Given the description of an element on the screen output the (x, y) to click on. 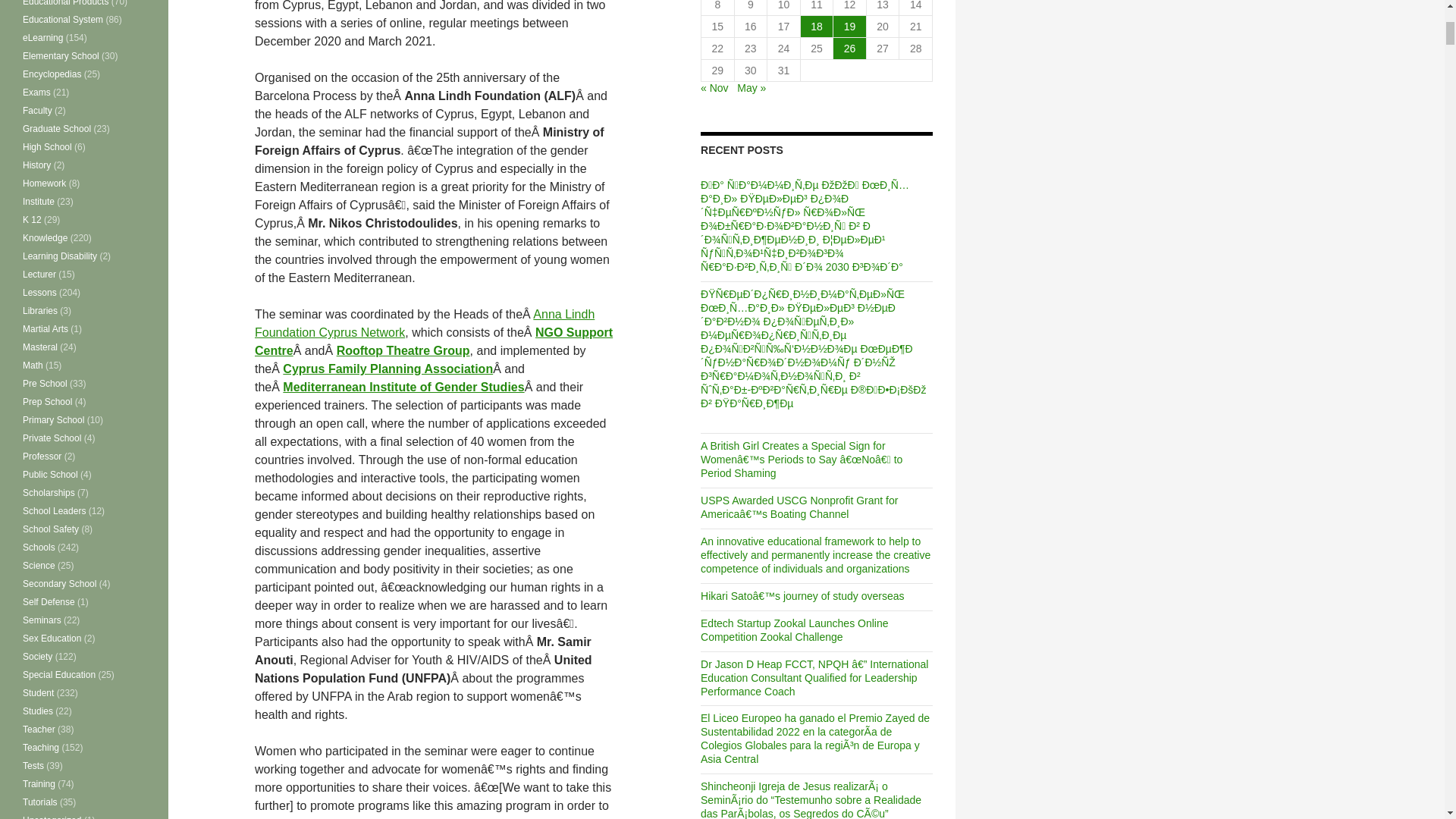
Mediterranean Institute of Gender Studies (403, 386)
Cyprus Family Planning Association (387, 368)
Rooftop Theatre Group (403, 350)
Anna Lindh Foundation Cyprus Network (424, 323)
NGO Support Centre (433, 341)
